Given the description of an element on the screen output the (x, y) to click on. 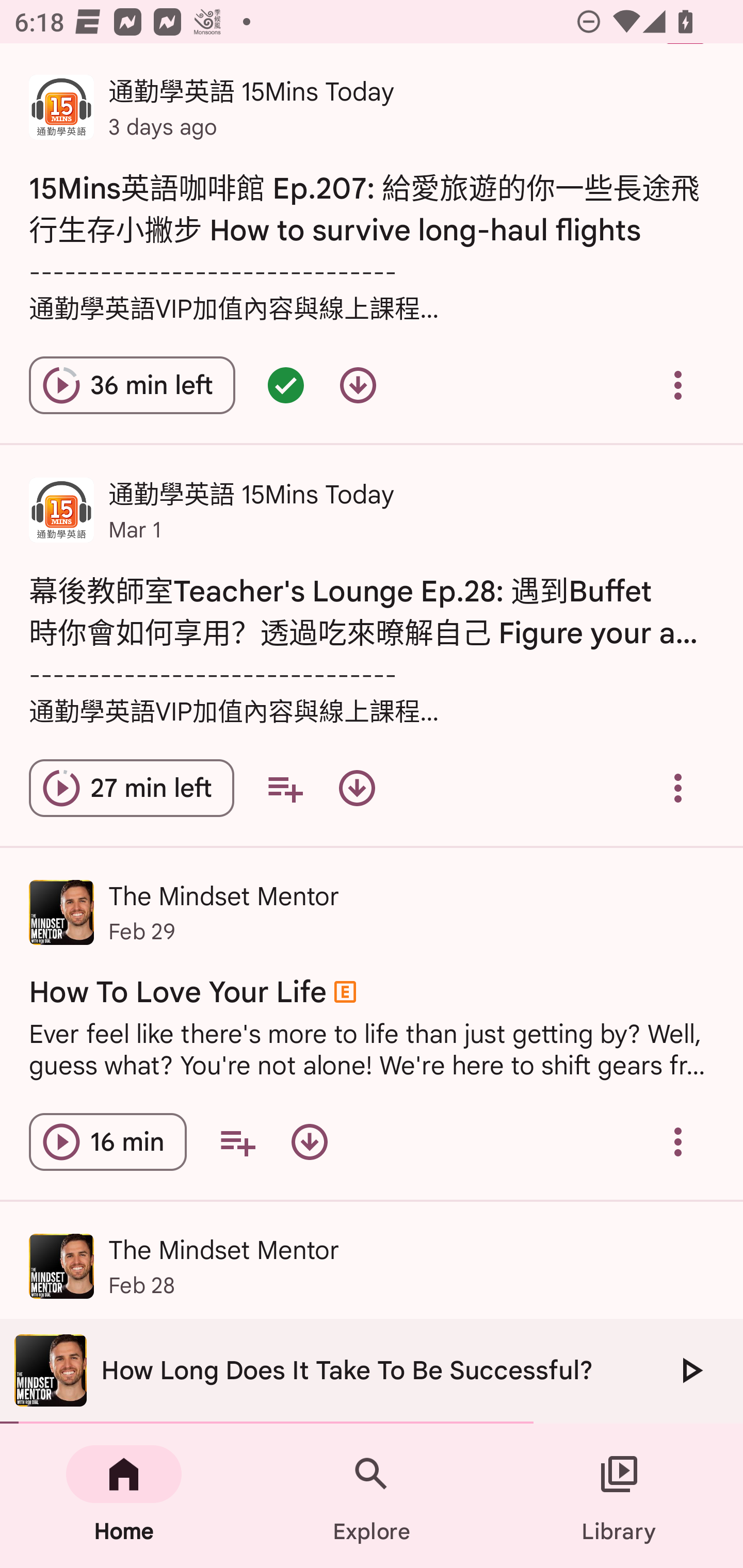
Episode queued - double tap for options (285, 384)
Download episode (357, 384)
Overflow menu (677, 384)
Add to your queue (284, 787)
Download episode (356, 787)
Overflow menu (677, 787)
Play episode How To Love Your Life 16 min (107, 1142)
Add to your queue (237, 1142)
Download episode (309, 1142)
Overflow menu (677, 1142)
Play (690, 1370)
Explore (371, 1495)
Library (619, 1495)
